Given the description of an element on the screen output the (x, y) to click on. 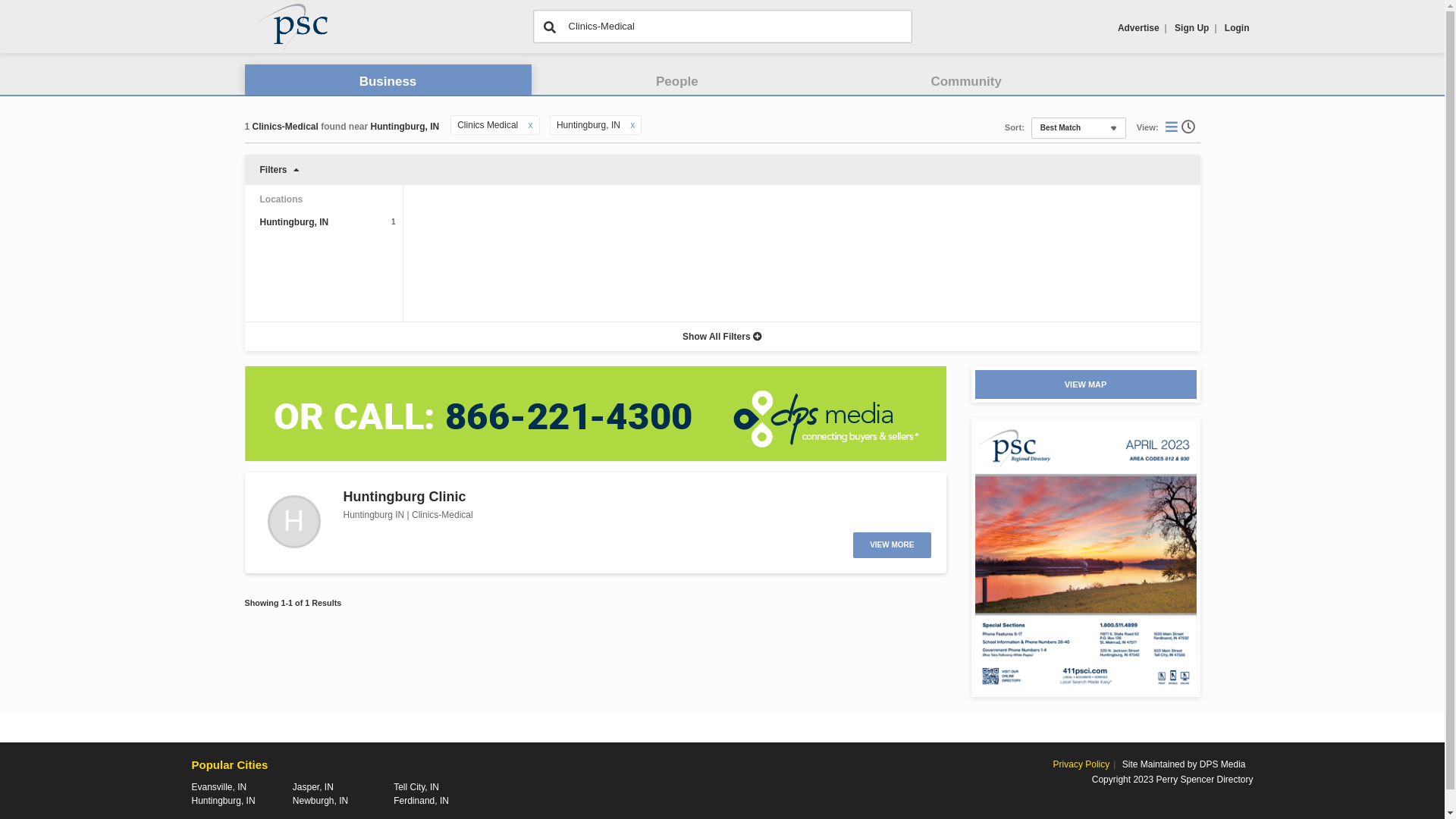
Login Element type: text (1236, 27)
People Element type: text (676, 81)
Sign Up Element type: text (1191, 27)
Privacy Policy Element type: text (1081, 764)
Jasper, IN Element type: text (312, 786)
Tell City, IN Element type: text (416, 786)
Show Open Element type: hover (1189, 126)
Show All Filters Element type: text (722, 336)
Filters Element type: text (721, 169)
x Element type: text (632, 124)
Huntingburg, IN Element type: text (222, 800)
x Element type: text (530, 124)
Ferdinand, IN Element type: text (420, 800)
VIEW MAP Element type: text (1085, 384)
Community Element type: text (965, 81)
Huntingburg Clinic Element type: text (403, 496)
VIEW MORE Element type: text (891, 545)
Newburgh, IN Element type: text (320, 800)
Evansville, IN Element type: text (218, 786)
Advertise Element type: text (1138, 27)
